Given the description of an element on the screen output the (x, y) to click on. 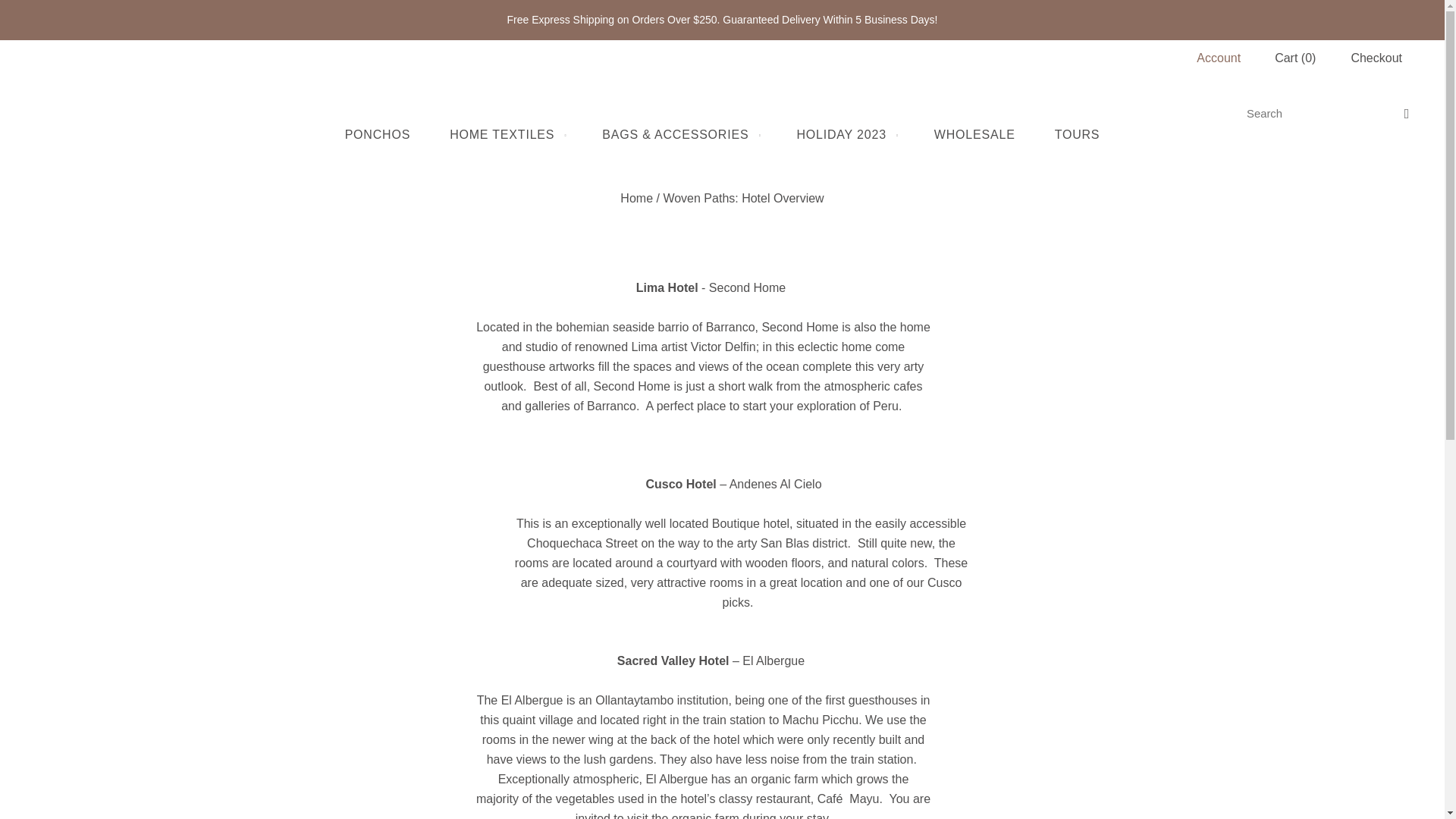
Checkout (1375, 57)
TOURS (1077, 134)
WHOLESALE (974, 134)
Account (1218, 57)
PONCHOS (377, 134)
